Given the description of an element on the screen output the (x, y) to click on. 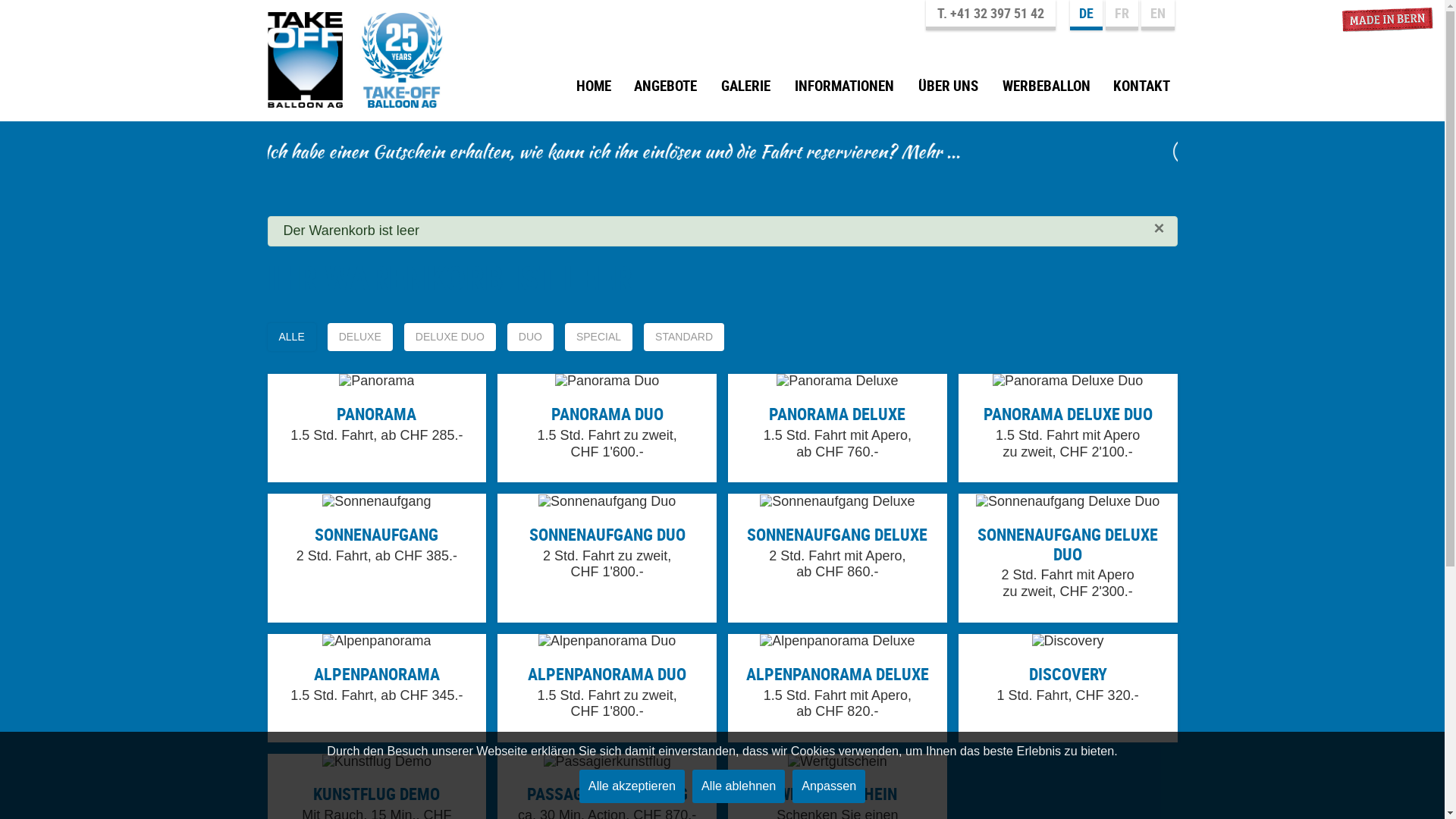
EN Element type: text (1156, 15)
Alpenpanorama Duo Element type: hover (606, 687)
SONNENAUFGANG DELUXE Element type: text (836, 534)
ALLE Element type: text (290, 337)
ALPENPANORAMA DELUXE Element type: text (837, 673)
SONNENAUFGANG DUO Element type: text (607, 534)
STANDARD Element type: text (683, 337)
FR Element type: text (1121, 15)
ALPENPANORAMA Element type: text (376, 673)
SONNENAUFGANG DELUXE DUO Element type: text (1067, 543)
DELUXE Element type: text (359, 337)
Sonnenaufgang Deluxe Element type: hover (837, 557)
Panorama Deluxe Element type: hover (837, 427)
Alle ablehnen Element type: text (738, 785)
Alpenpanorama Deluxe Element type: hover (837, 687)
DUO Element type: text (530, 337)
DISCOVERY Element type: text (1068, 673)
DE Element type: text (1085, 15)
PASSAGIERKUNSTFLUG Element type: text (607, 793)
PANORAMA DELUXE DUO Element type: text (1067, 413)
ALPENPANORAMA DUO Element type: text (606, 673)
Alpenpanorama Element type: hover (376, 687)
HOME Element type: text (593, 91)
DELUXE DUO Element type: text (449, 337)
WERTGUTSCHEIN Element type: text (837, 793)
KONTAKT Element type: text (1141, 91)
PANORAMA Element type: text (376, 413)
Panorama Duo Element type: hover (606, 427)
KUNSTFLUG DEMO Element type: text (376, 793)
INFORMATIONEN Element type: text (845, 91)
ANGEBOTE Element type: text (666, 91)
Sonnenaufgang Deluxe Duo Element type: hover (1067, 557)
SONNENAUFGANG Element type: text (376, 534)
GALERIE Element type: text (745, 91)
Panorama Deluxe Duo Element type: hover (1067, 427)
Sonnenaufgang Element type: hover (376, 557)
WERBEBALLON Element type: text (1046, 91)
Anpassen Element type: text (828, 785)
PANORAMA DUO Element type: text (607, 413)
SPECIAL Element type: text (598, 337)
PANORAMA DELUXE Element type: text (836, 413)
Panorama Element type: hover (376, 427)
Alle akzeptieren Element type: text (631, 785)
Discovery Element type: hover (1067, 687)
Sonnenaufgang Duo Element type: hover (606, 557)
